Given the description of an element on the screen output the (x, y) to click on. 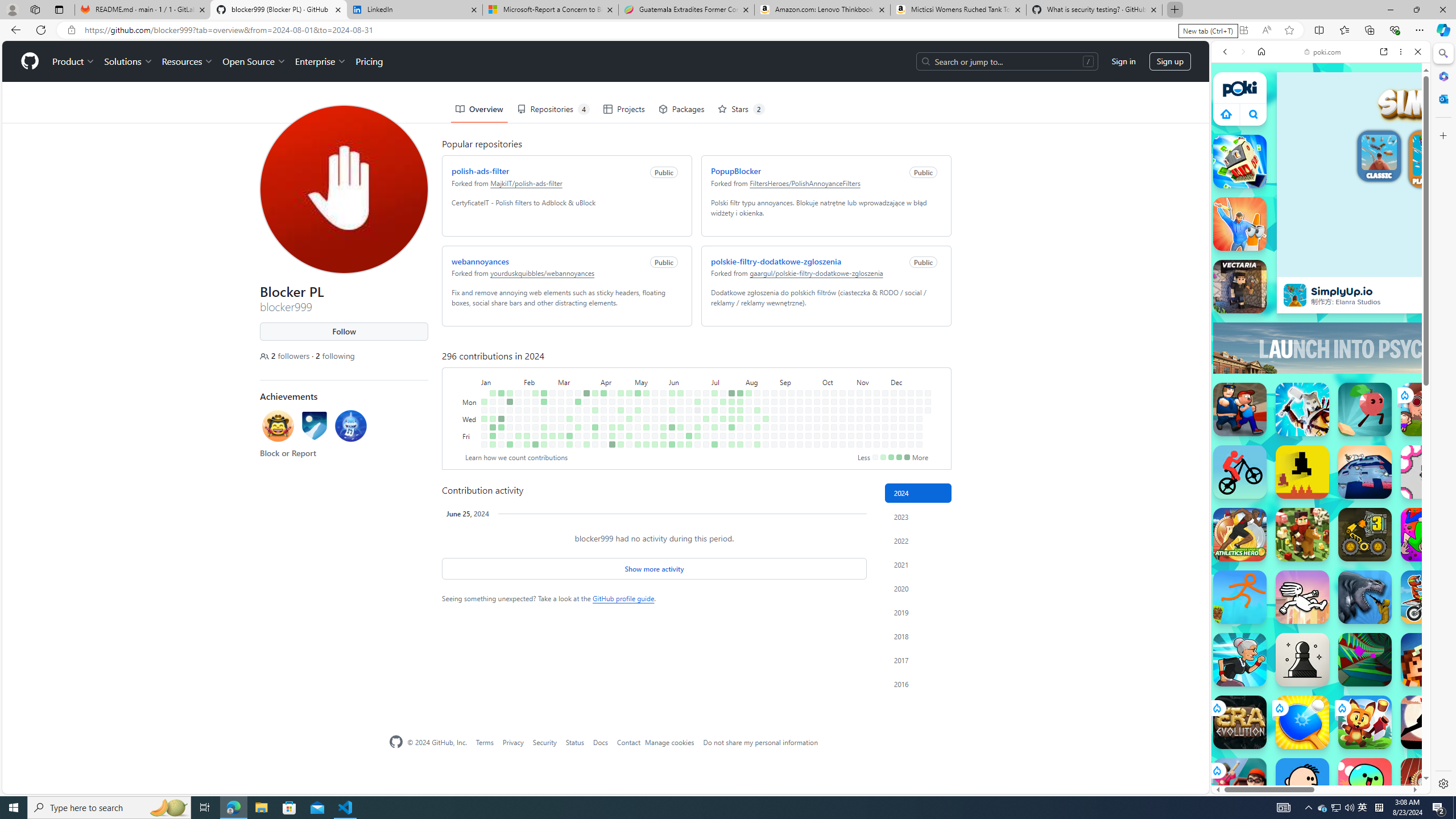
No contributions on October 3rd. (816, 427)
No contributions on July 2nd. (706, 410)
No contributions on April 24th. (620, 418)
No contributions on October 27th. (850, 392)
2 contributions on July 11th. (714, 427)
No contributions on March 2nd. (552, 444)
Crazy Cars (1419, 574)
No contributions on October 21st. (842, 401)
No contributions on May 14th. (646, 410)
No contributions on February 7th. (526, 418)
Hills of Steel (1264, 523)
No contributions on August 10th. (748, 444)
